Given the description of an element on the screen output the (x, y) to click on. 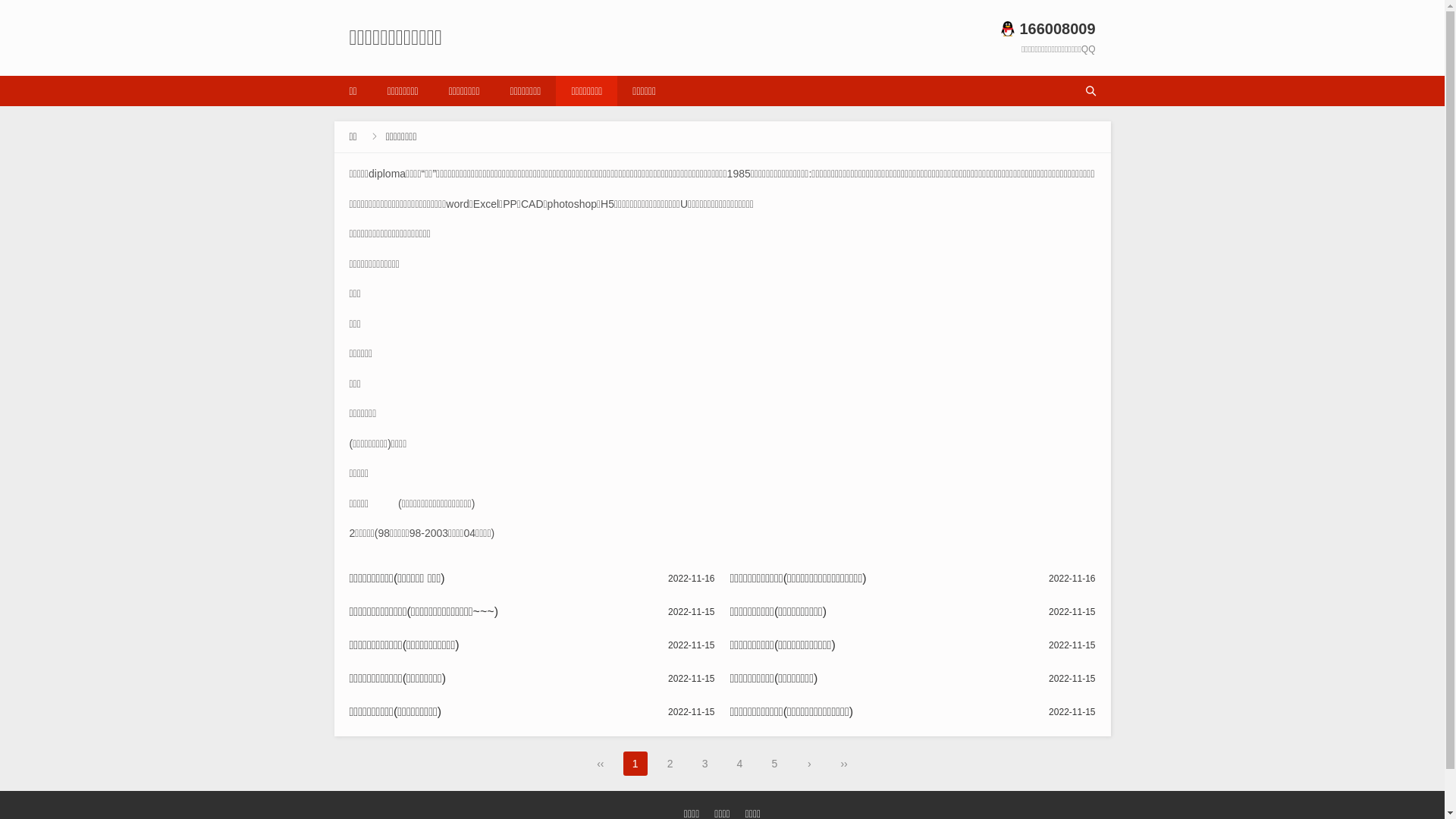
4 Element type: text (739, 762)
166008009 Element type: text (1047, 28)
5 Element type: text (774, 762)
2 Element type: text (670, 762)
3 Element type: text (705, 762)
166008009 Element type: text (1047, 28)
